Given the description of an element on the screen output the (x, y) to click on. 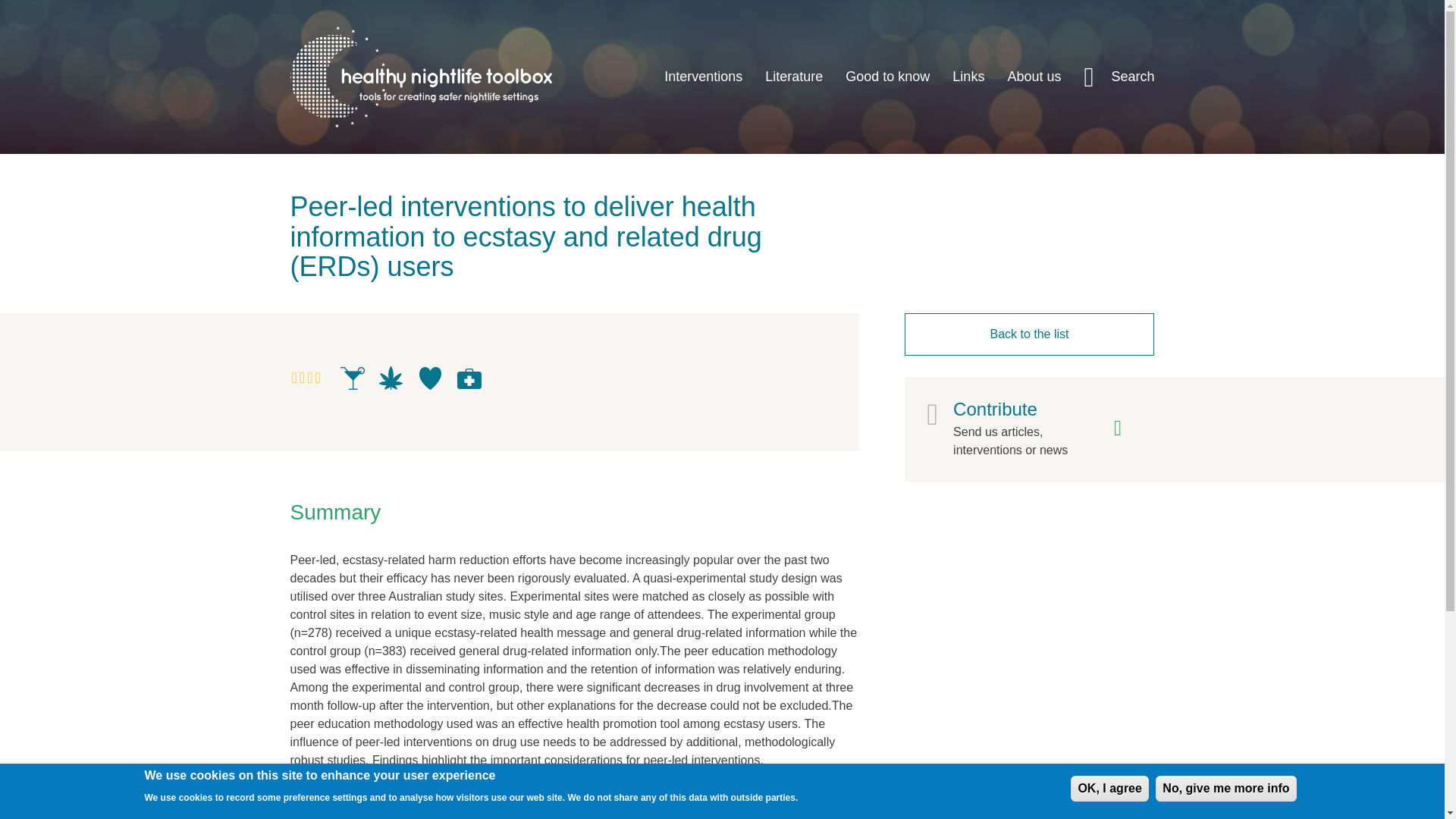
Home (420, 76)
Links (967, 76)
Back to the list (1029, 333)
No, give me more info (1225, 788)
Interventions (703, 76)
OK, I agree (1109, 788)
Literature (794, 76)
Search (1117, 190)
Good to know (887, 76)
Search (1118, 76)
About us (1033, 76)
got to contribute (1040, 429)
